Given the description of an element on the screen output the (x, y) to click on. 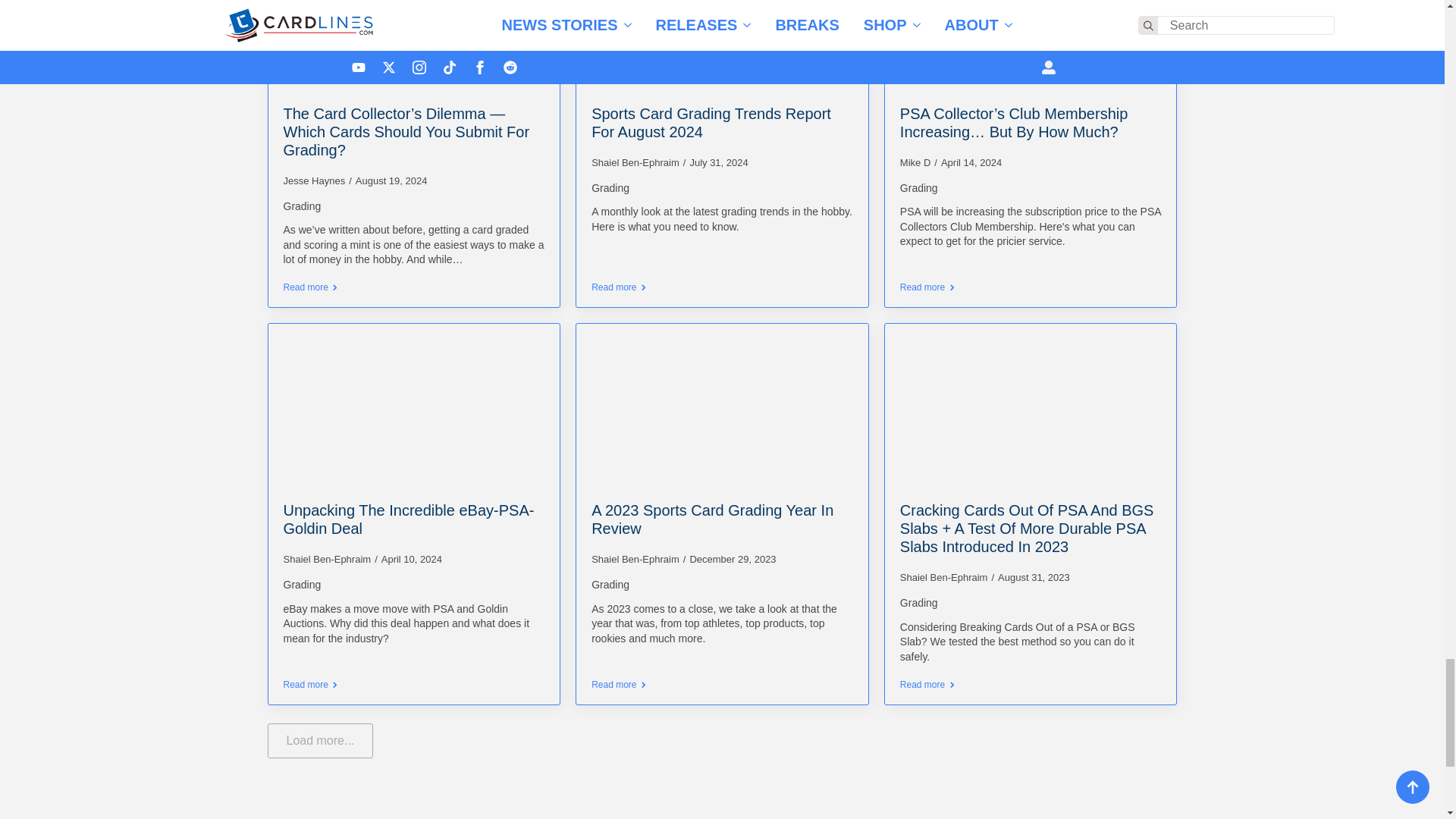
Posts by Shaiel Ben-Ephraim (943, 577)
Posts by Shaiel Ben-Ephraim (327, 559)
Posts by Jesse Haynes (314, 180)
Posts by Shaiel Ben-Ephraim (635, 162)
Posts by Shaiel Ben-Ephraim (635, 559)
Posts by Mike D (914, 162)
